Given the description of an element on the screen output the (x, y) to click on. 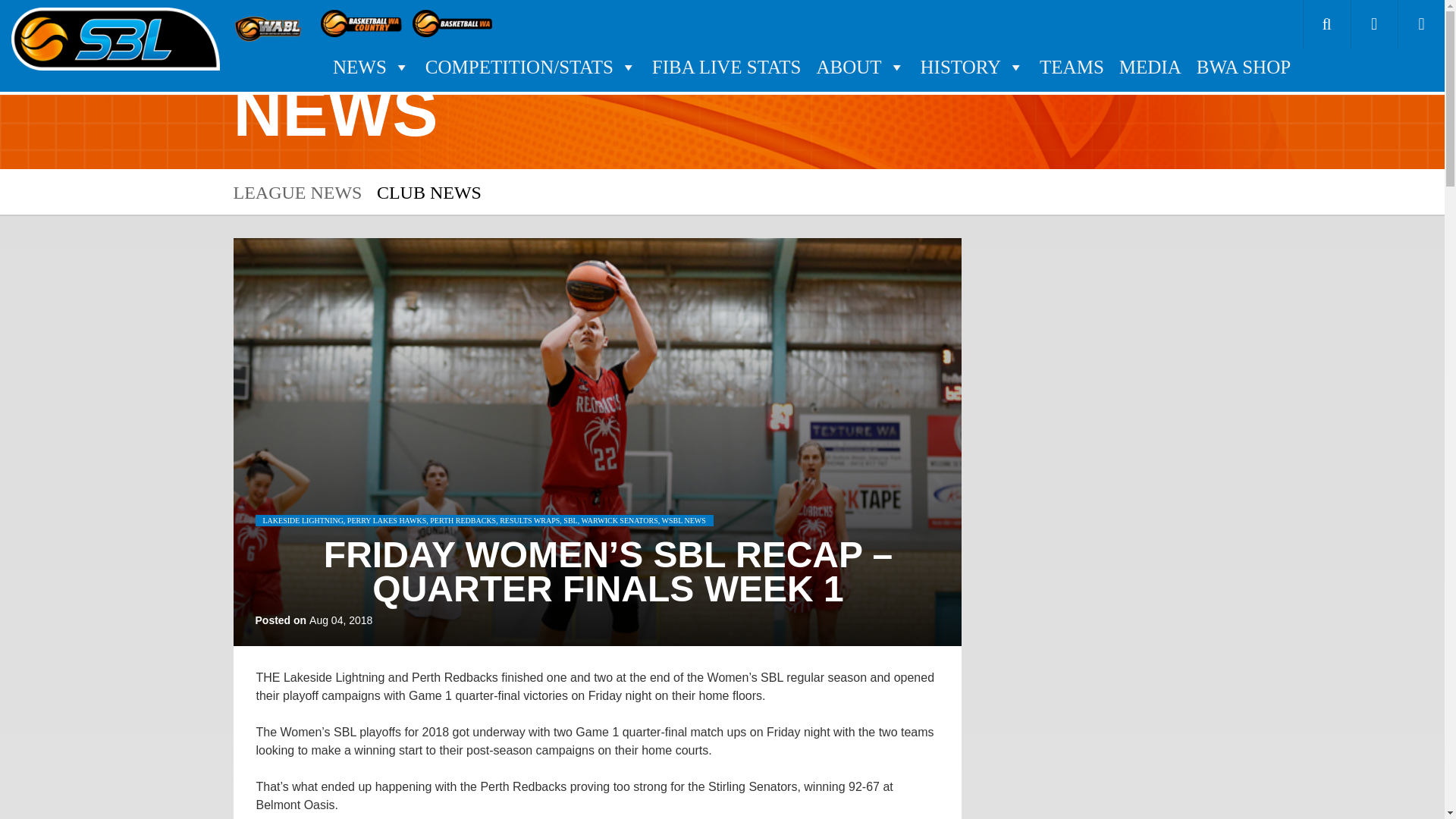
CLUB NEWS (429, 192)
SBL (115, 39)
Basketball WA Country (362, 22)
BWA SHOP (1243, 67)
WABL (269, 22)
Basketball WA (454, 22)
LEAGUE NEWS (297, 192)
NEWS (371, 67)
TEAMS (1071, 67)
MEDIA (1149, 67)
FIBA LIVE STATS (727, 67)
Facebook (1374, 24)
HISTORY (972, 67)
ABOUT (859, 67)
